Given the description of an element on the screen output the (x, y) to click on. 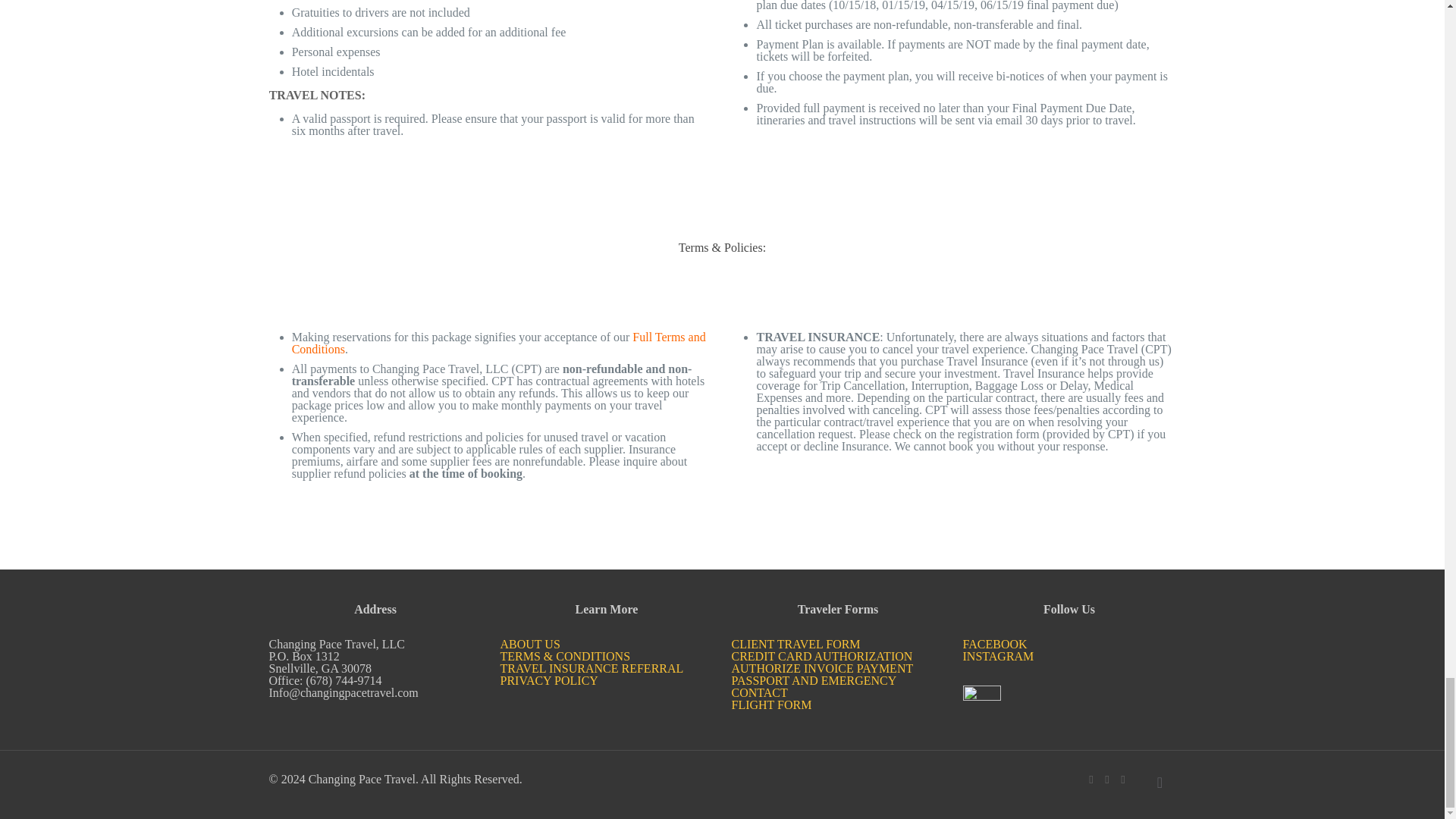
FACEBOOK (994, 644)
CREDIT CARD AUTHORIZATION (821, 656)
PRIVACY POLICY (549, 680)
CLIENT TRAVEL FORM (795, 644)
Facebook (1091, 779)
INSTAGRAM (997, 656)
FLIGHT FORM (770, 704)
AUTHORIZE INVOICE PAYMENT (821, 667)
Flickr (1106, 779)
TRAVEL INSURANCE REFERRAL (592, 667)
Full Terms and Conditions (499, 342)
ABOUT US (530, 644)
PASSPORT AND EMERGENCY CONTACT (812, 686)
Instagram (1123, 779)
